Given the description of an element on the screen output the (x, y) to click on. 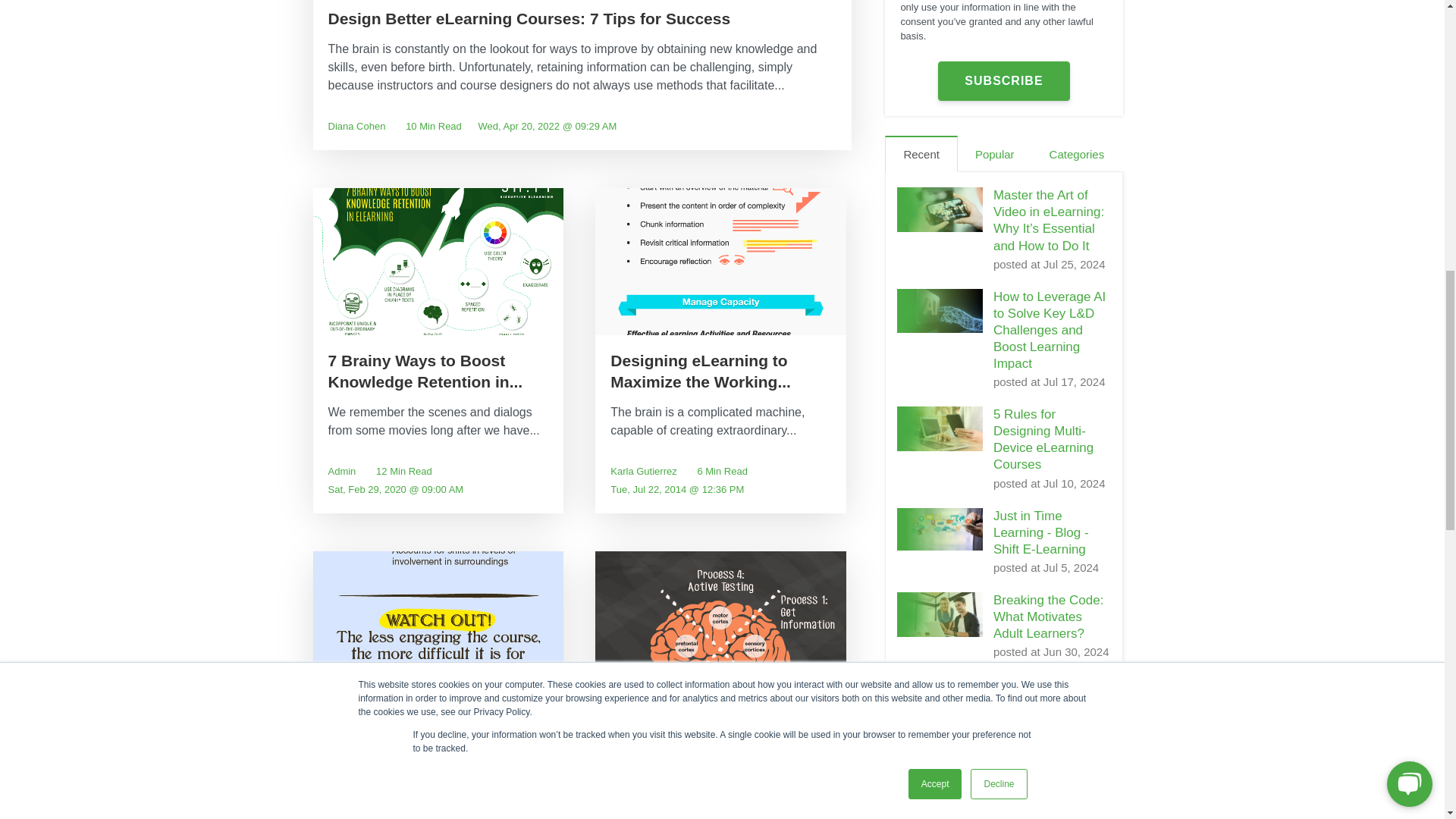
Subscribe (1002, 80)
